Given the description of an element on the screen output the (x, y) to click on. 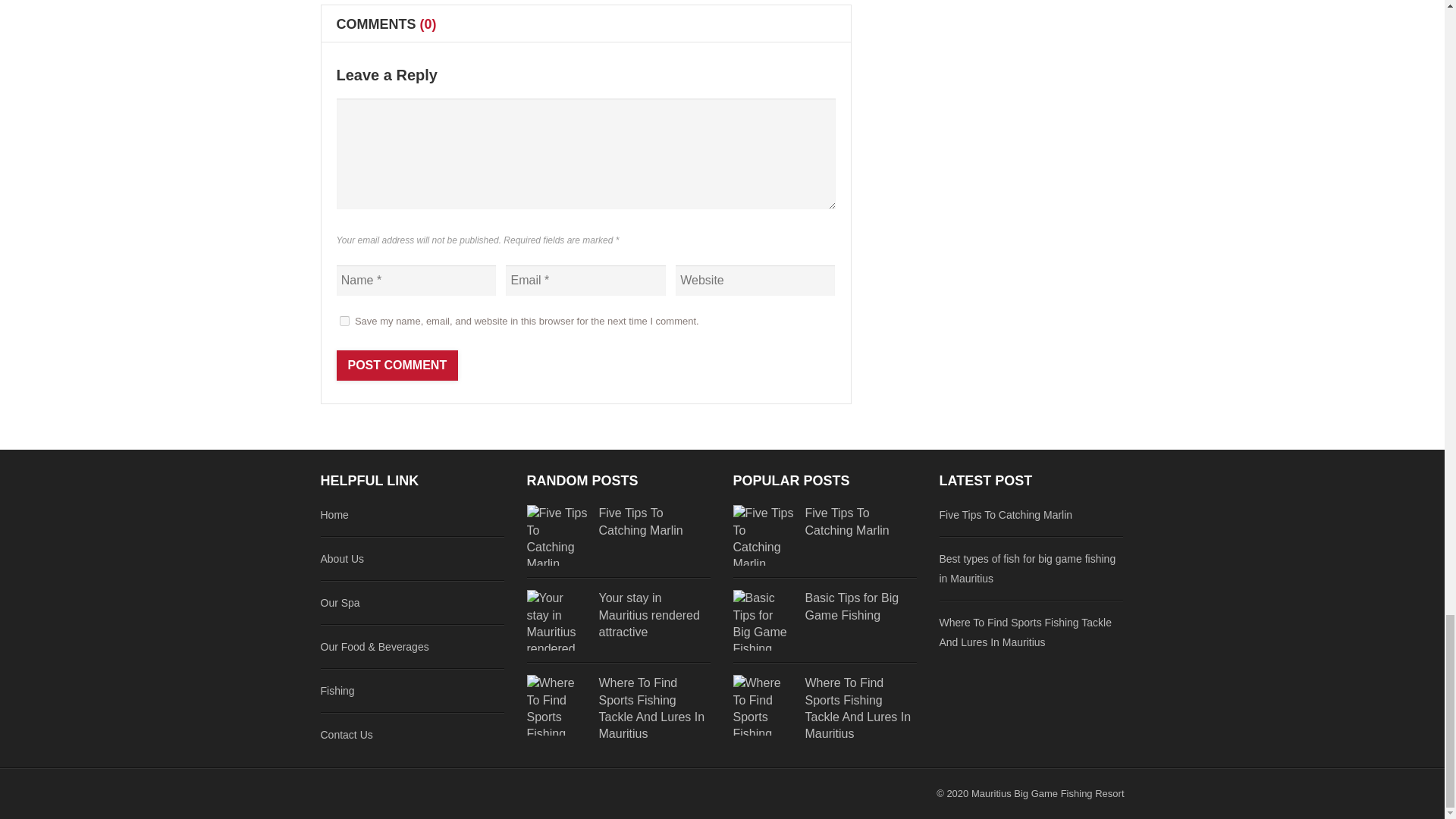
Post Comment (397, 365)
Post Comment (397, 365)
yes (344, 320)
